Given the description of an element on the screen output the (x, y) to click on. 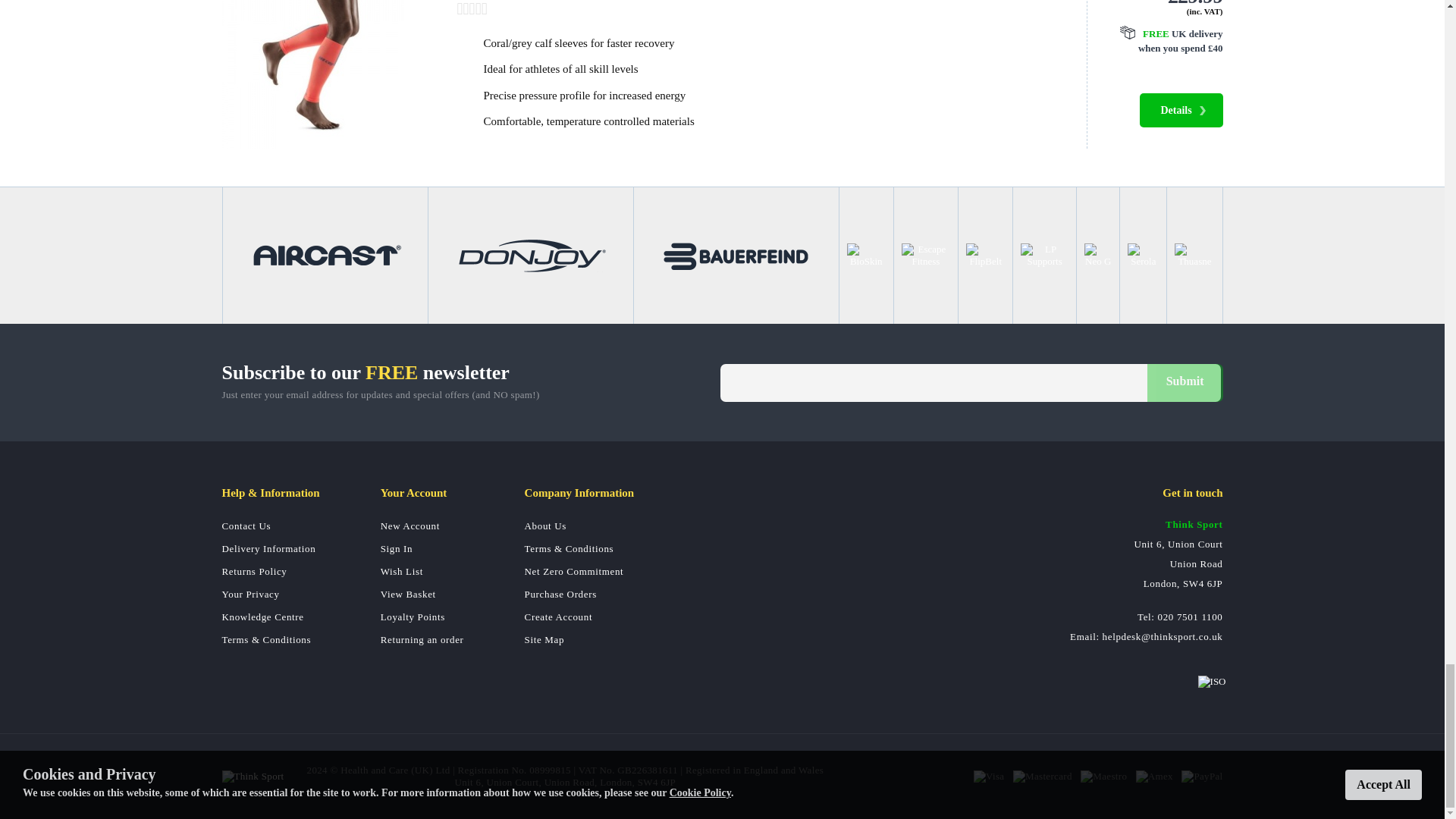
BioSkin (866, 255)
Full product details (1180, 110)
Not yet reviewed (756, 8)
Click for details (1164, 41)
